Given the description of an element on the screen output the (x, y) to click on. 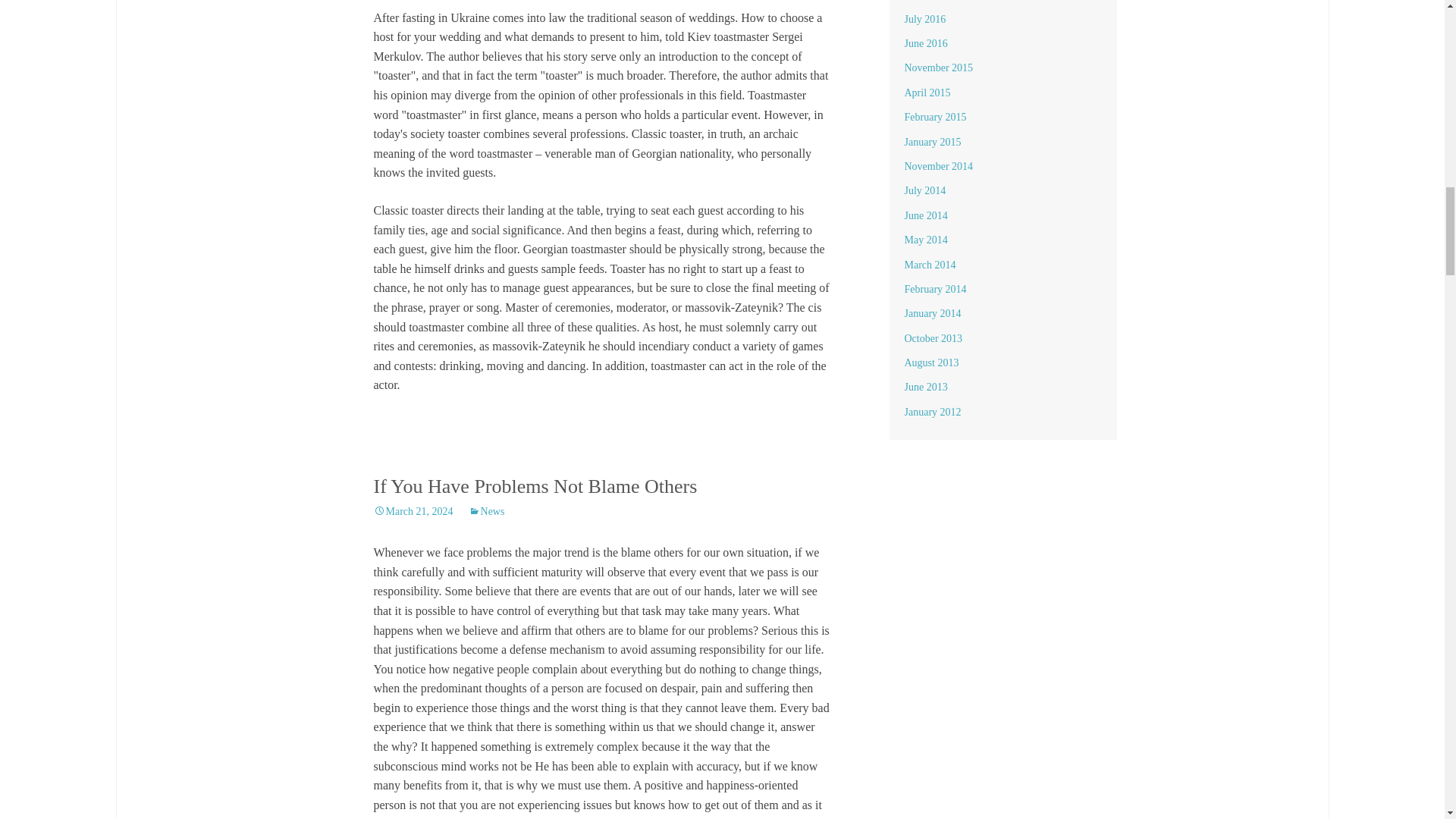
If You Have Problems Not Blame Others (534, 486)
Permalink to If You Have Problems Not Blame Others (412, 511)
March 21, 2024 (412, 511)
News (486, 511)
